Given the description of an element on the screen output the (x, y) to click on. 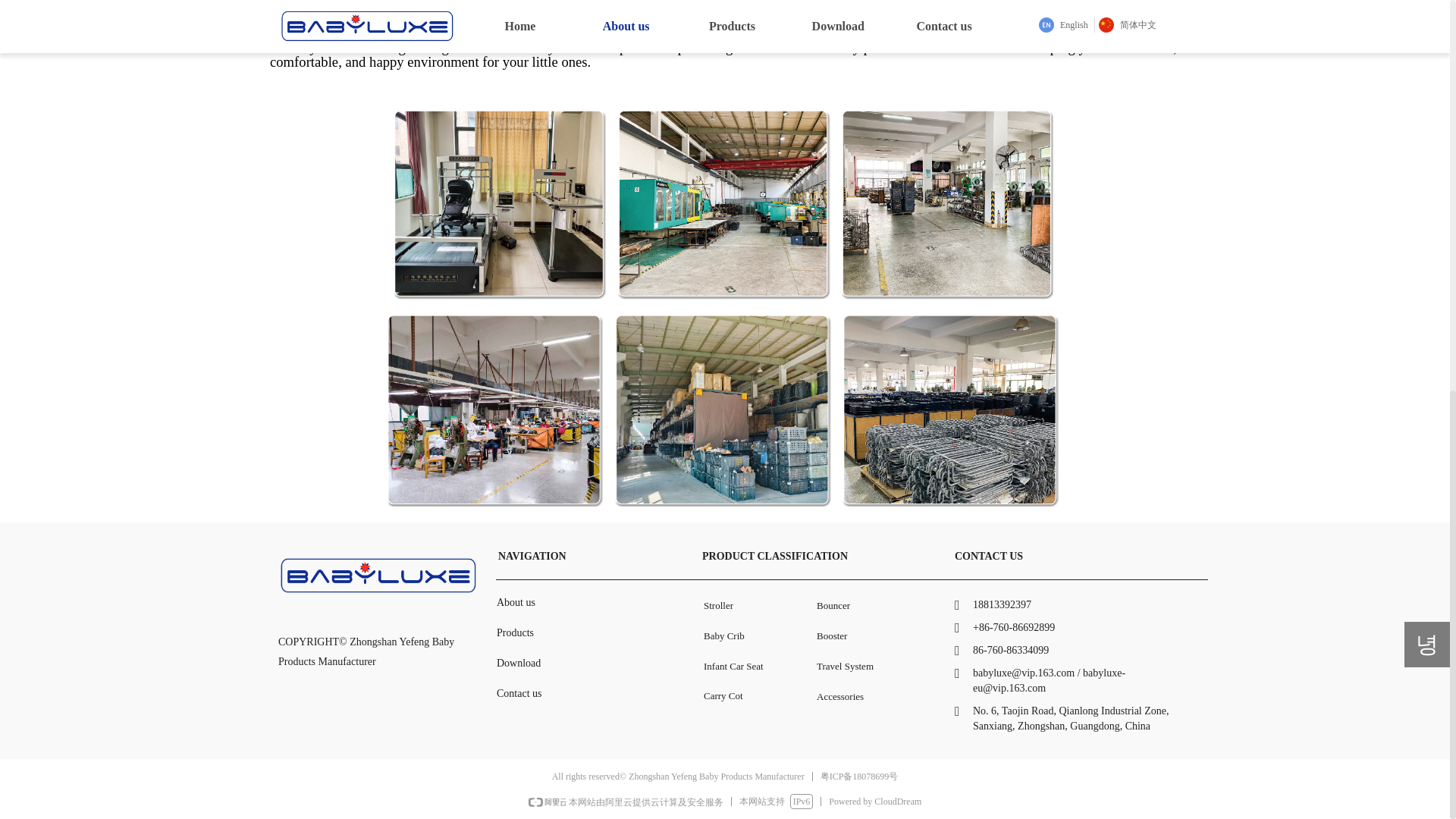
Carry Cot (751, 695)
Accessories (876, 696)
18813392397 (1073, 604)
Travel System (876, 666)
Baby Crib (751, 635)
Stroller (751, 605)
Products (572, 633)
Contact us (572, 693)
Booster (876, 635)
86-760-86334099 (1073, 650)
